Given the description of an element on the screen output the (x, y) to click on. 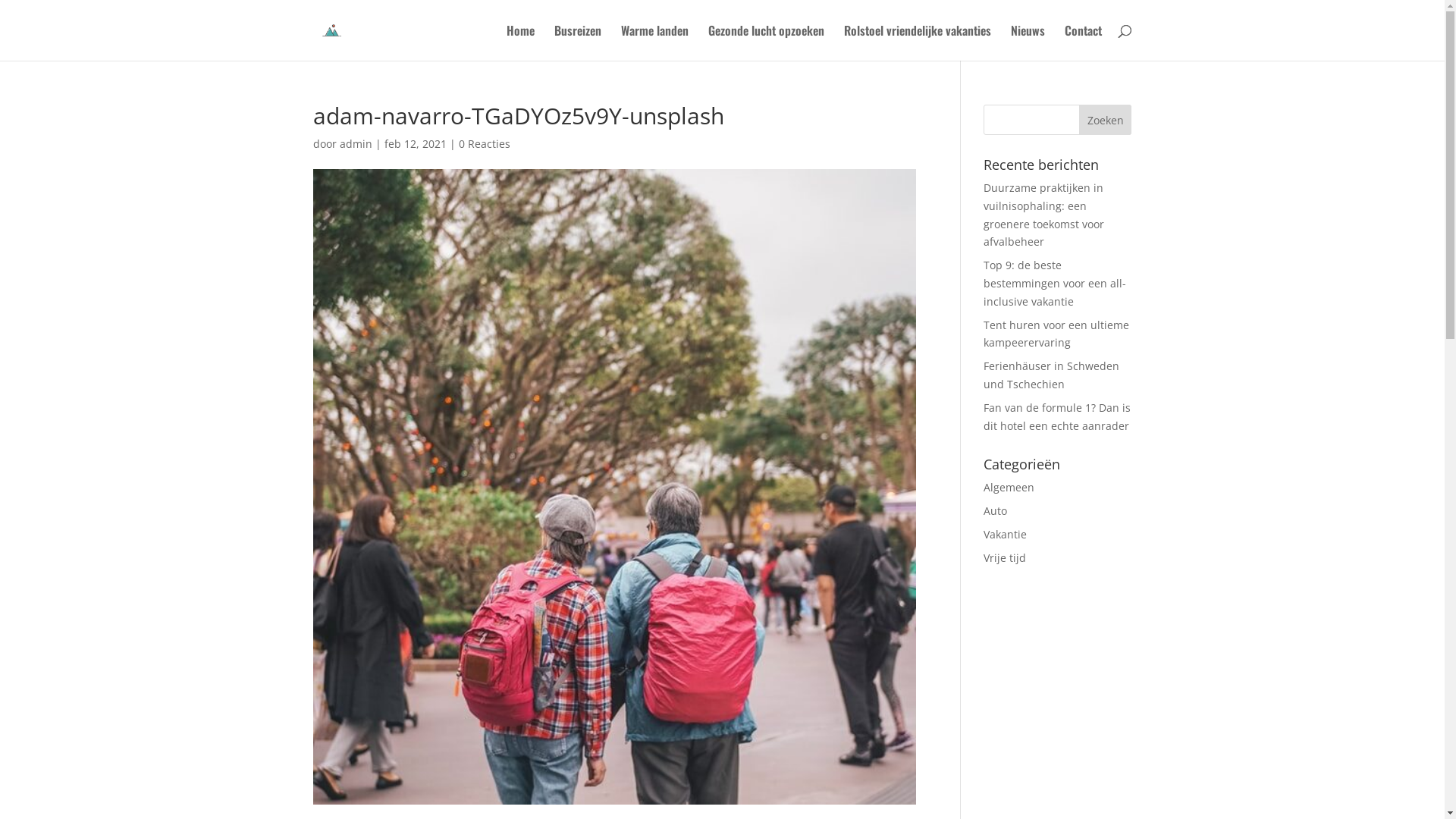
Busreizen Element type: text (576, 42)
Warme landen Element type: text (653, 42)
Top 9: de beste bestemmingen voor een all-inclusive vakantie Element type: text (1054, 282)
Auto Element type: text (995, 510)
Vakantie Element type: text (1004, 534)
0 Reacties Element type: text (483, 143)
Nieuws Element type: text (1027, 42)
Tent huren voor een ultieme kampeerervaring Element type: text (1056, 333)
Fan van de formule 1? Dan is dit hotel een echte aanrader Element type: text (1056, 416)
Vrije tijd Element type: text (1004, 557)
Zoeken Element type: text (1105, 119)
Algemeen Element type: text (1008, 487)
admin Element type: text (355, 143)
Rolstoel vriendelijke vakanties Element type: text (916, 42)
Gezonde lucht opzoeken Element type: text (766, 42)
Home Element type: text (520, 42)
Contact Element type: text (1082, 42)
